Given the description of an element on the screen output the (x, y) to click on. 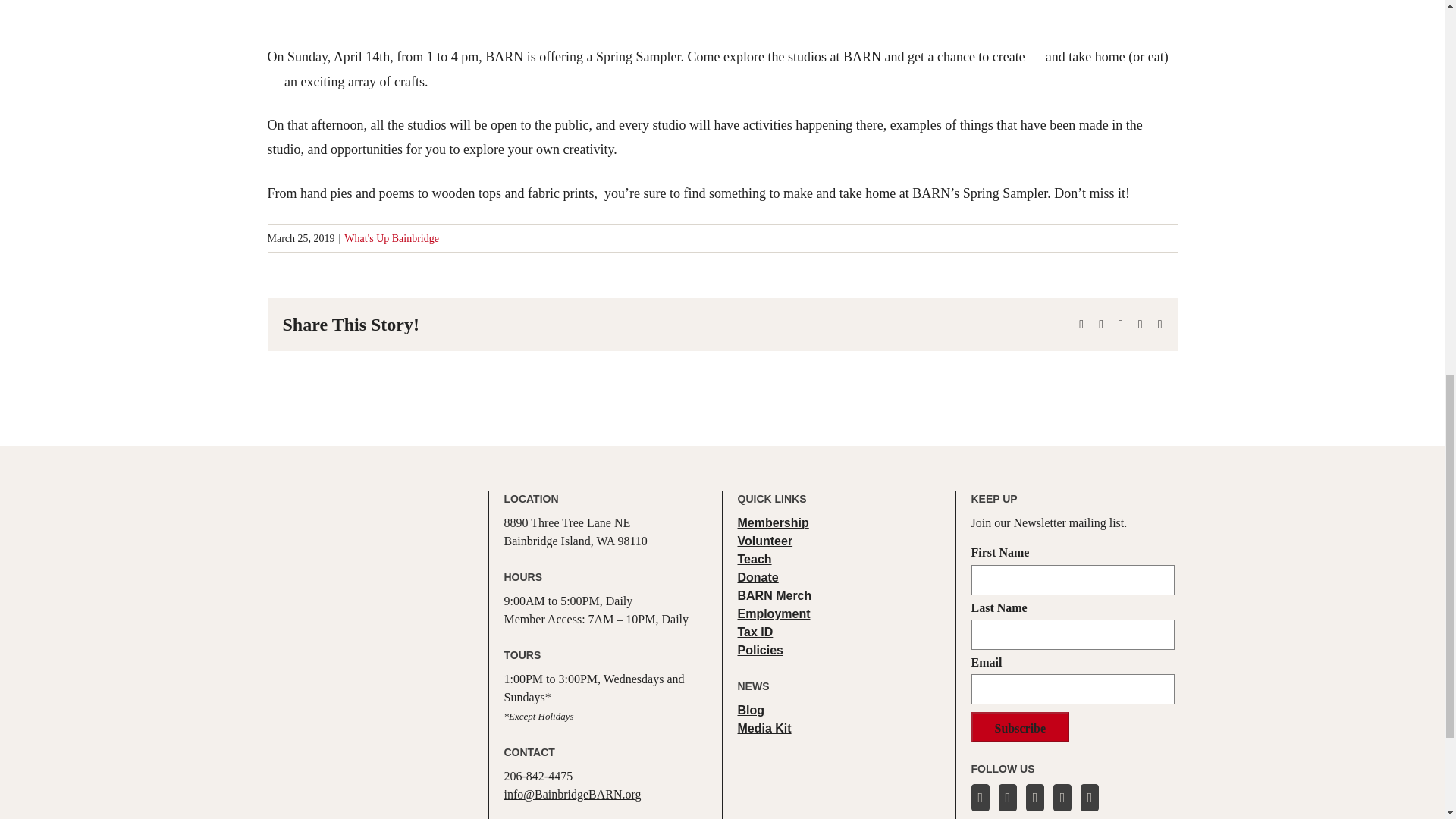
Subscribe (1019, 726)
